Given the description of an element on the screen output the (x, y) to click on. 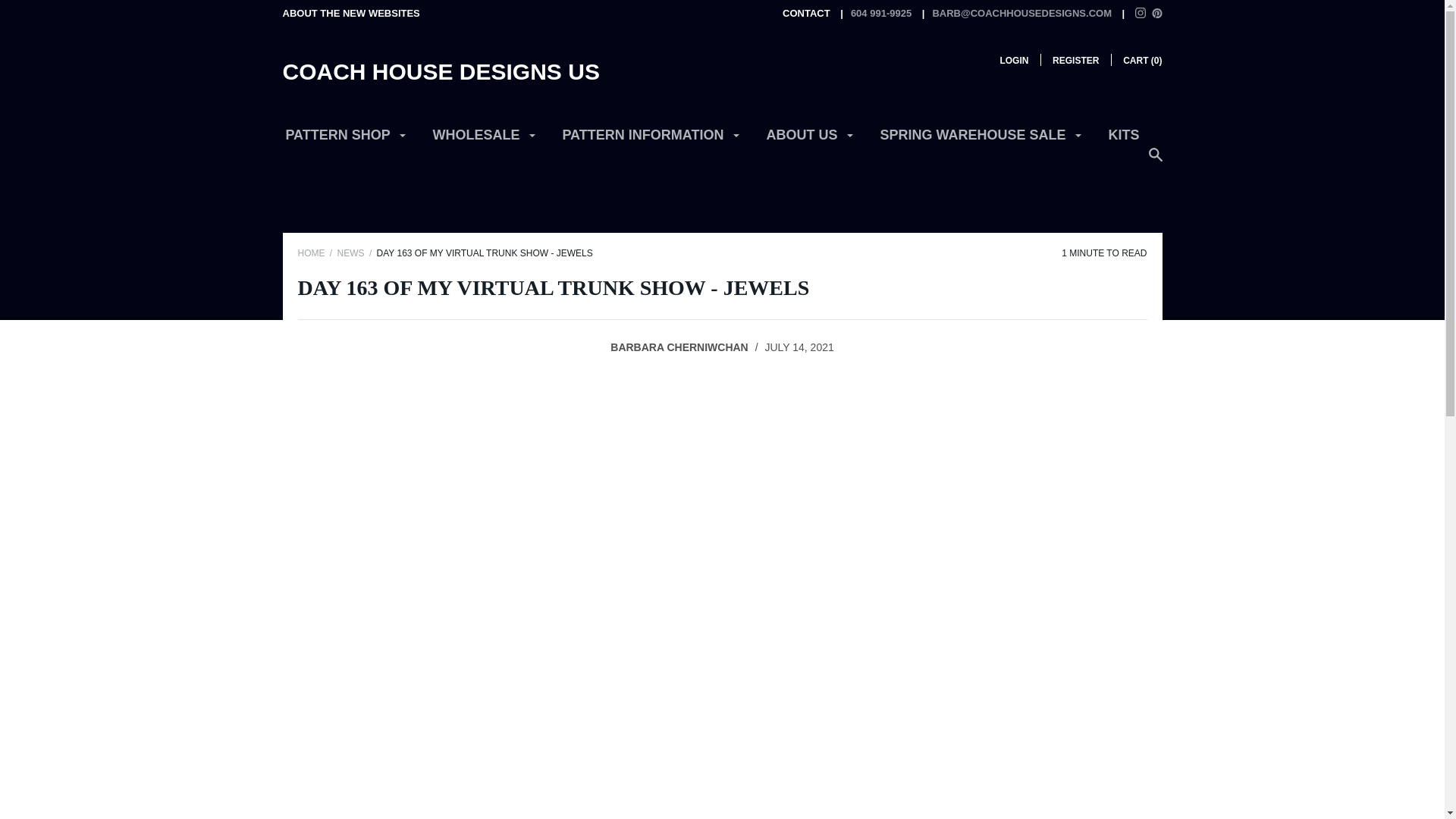
Pinterest (1156, 14)
REGISTER (1075, 60)
Instagram (1140, 12)
Instagram (1140, 14)
Pinterest (1156, 12)
COACH HOUSE DESIGNS US (440, 71)
ABOUT THE NEW WEBSITES (350, 12)
PATTERN SHOP (345, 140)
LOGIN (1012, 60)
